Given the description of an element on the screen output the (x, y) to click on. 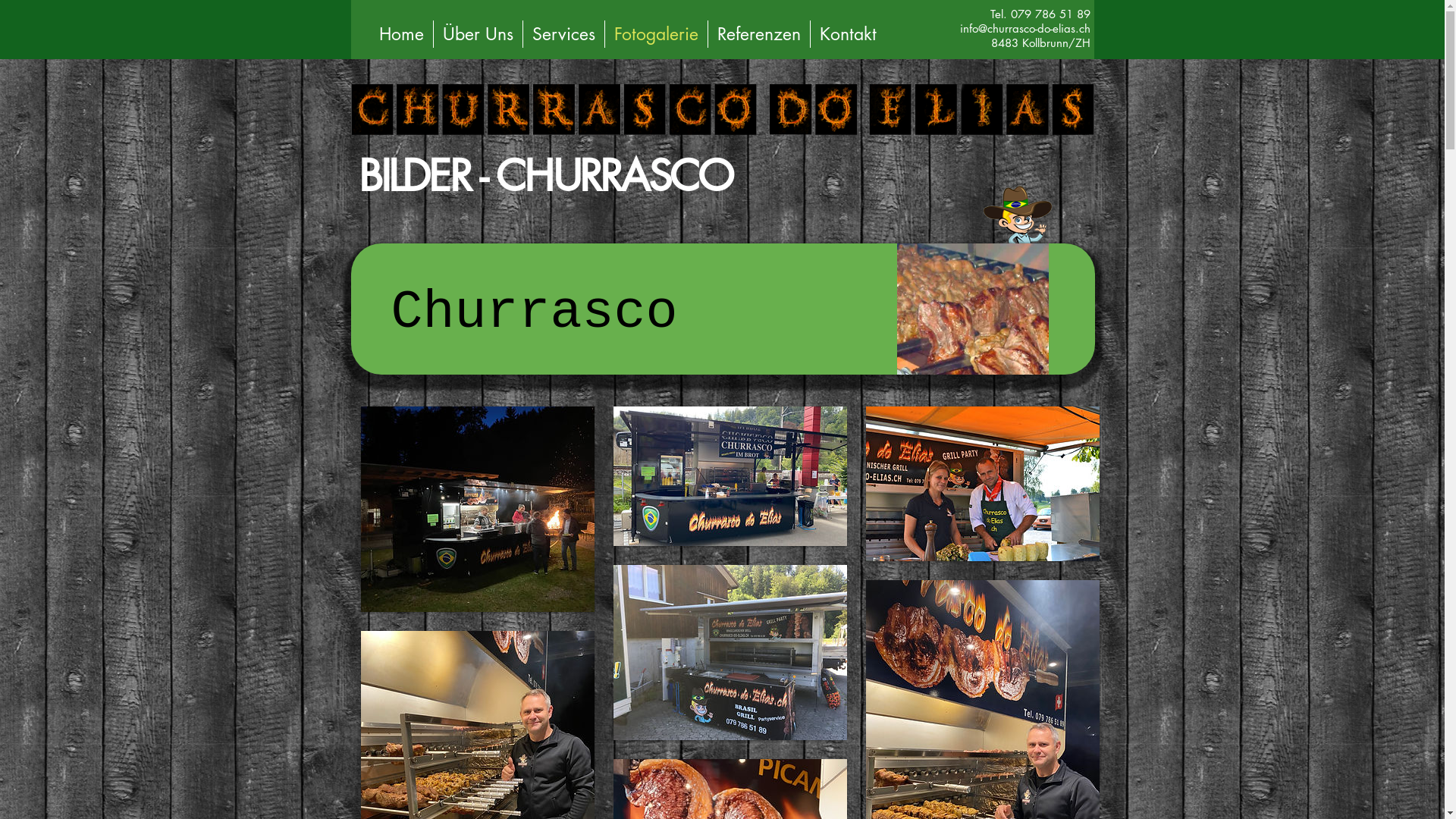
Fotogalerie Element type: text (656, 33)
churrasco_flammen980px.png Element type: hover (721, 112)
Referenzen Element type: text (758, 33)
Home Element type: text (401, 33)
Services Element type: text (563, 33)
Kontakt Element type: text (846, 33)
info@churrasco-do-elias.ch Element type: text (1025, 28)
